Given the description of an element on the screen output the (x, y) to click on. 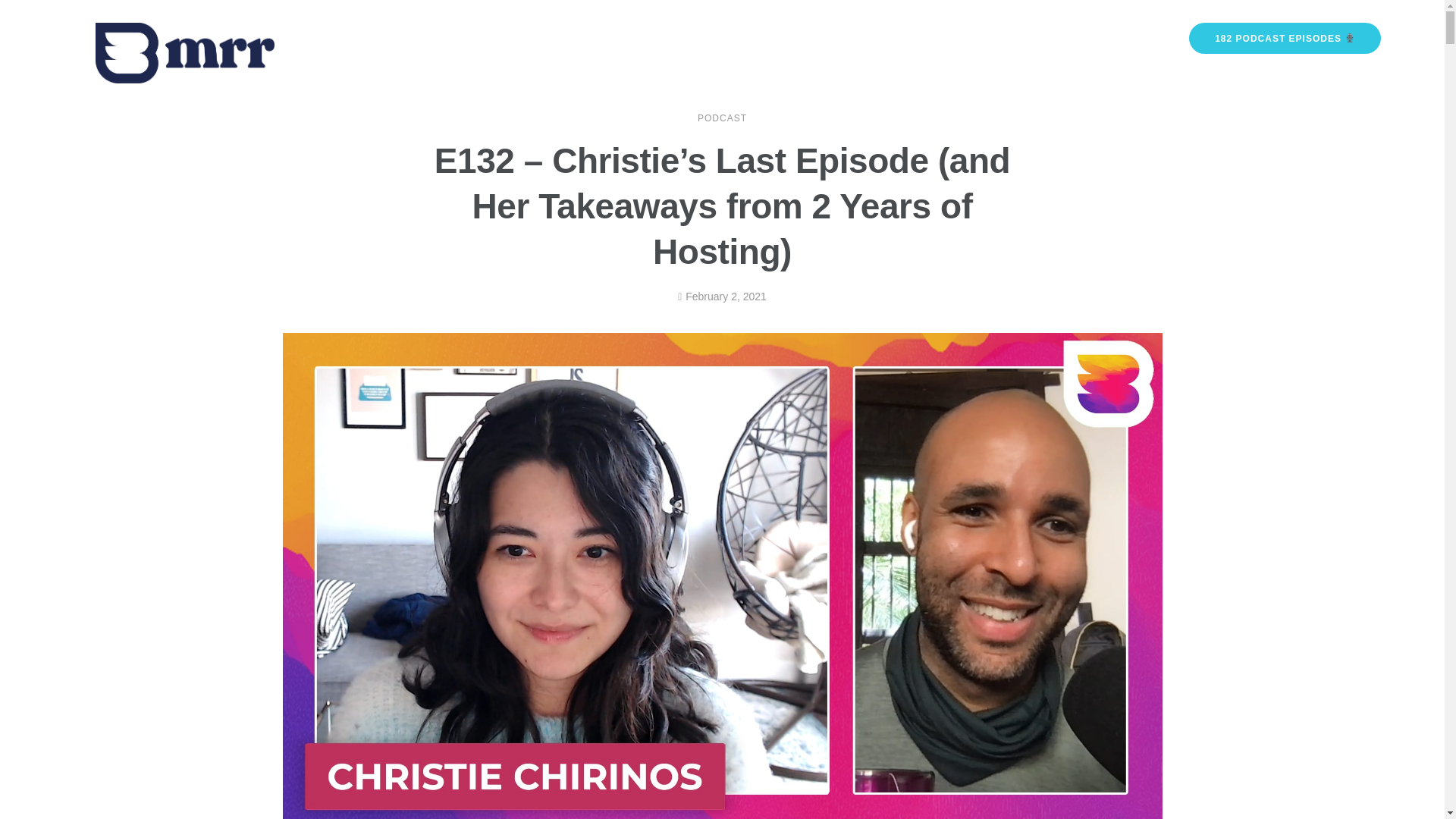
182 PODCAST EPISODES (1284, 38)
February 2, 2021 (722, 296)
PODCAST (721, 117)
